Given the description of an element on the screen output the (x, y) to click on. 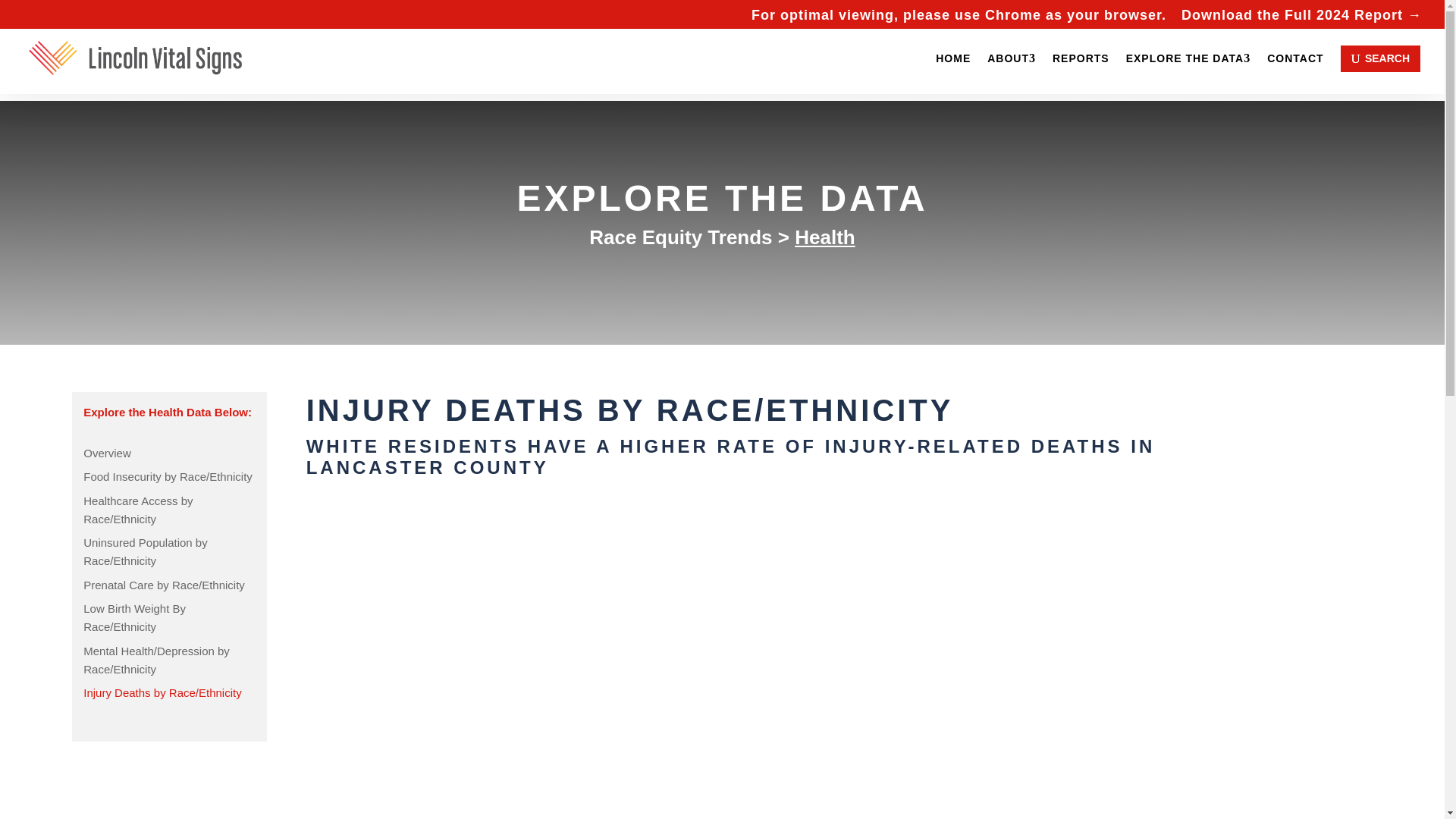
For optimal viewing, please use Chrome as your browser. (958, 19)
EXPLORE THE DATA (1187, 58)
